Given the description of an element on the screen output the (x, y) to click on. 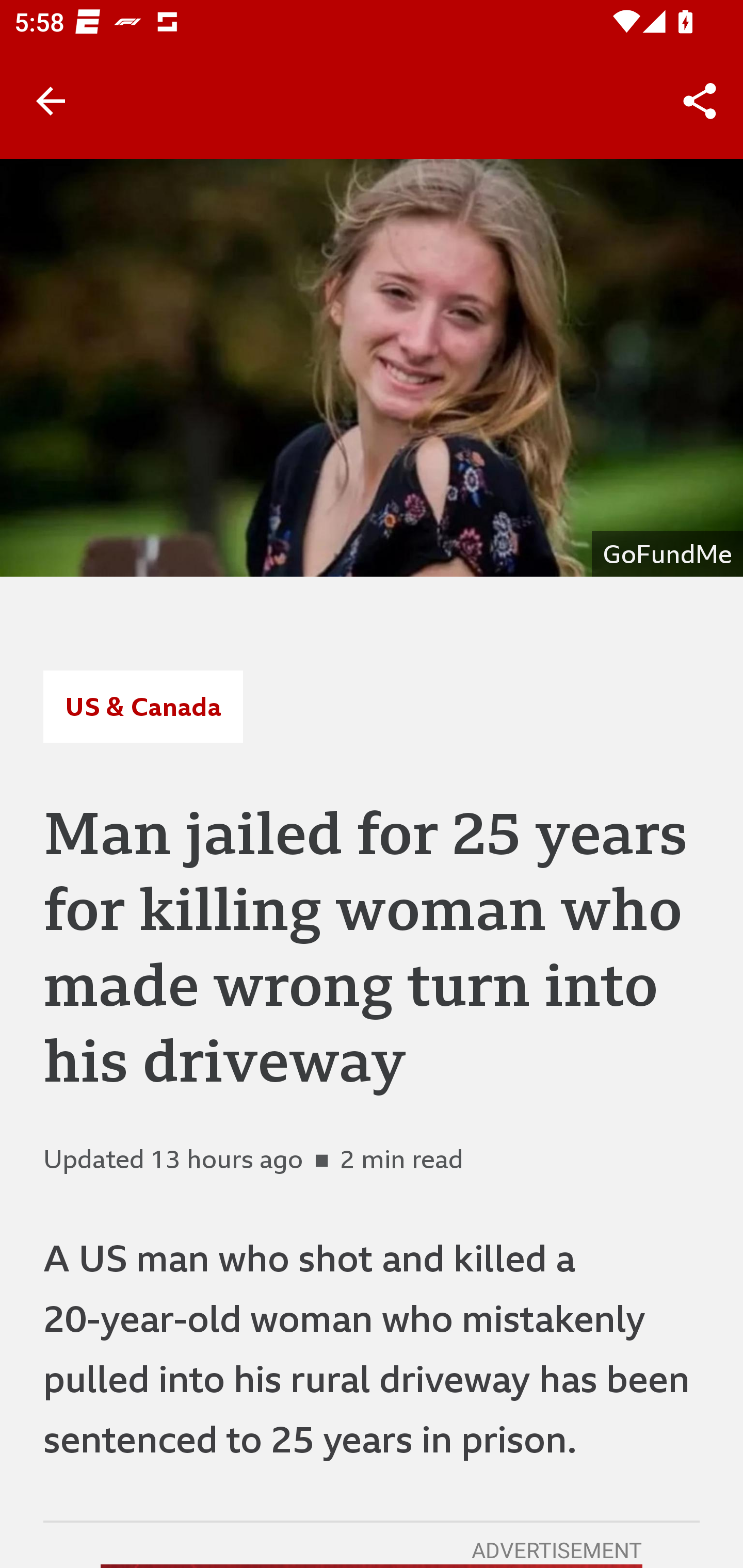
Back (50, 101)
Share (699, 101)
US & Canada (142, 706)
